Given the description of an element on the screen output the (x, y) to click on. 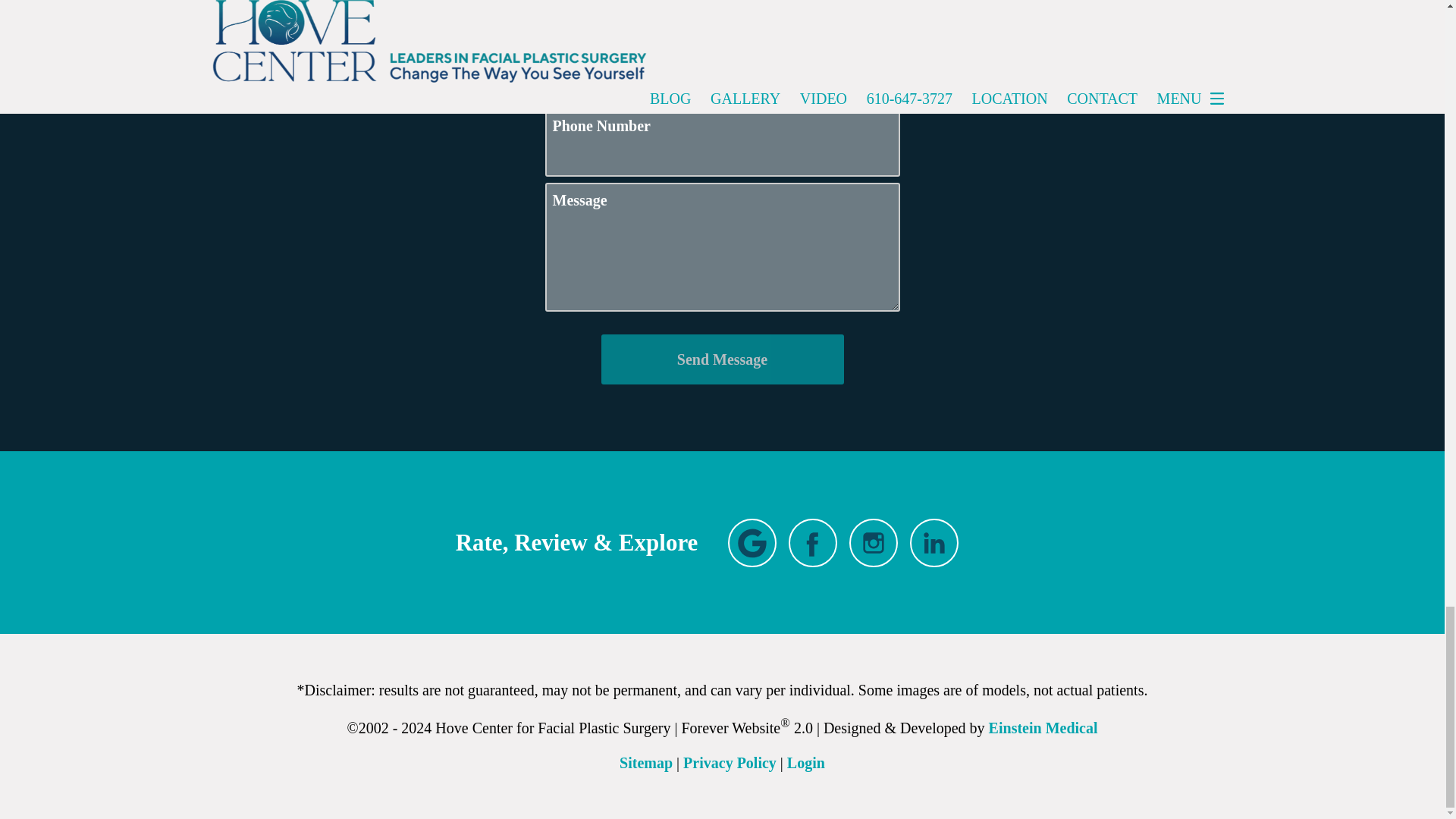
Facebook (813, 542)
Einstein Medical (1042, 727)
Login (806, 762)
Instagram (873, 542)
Sitemap (646, 762)
Send Message (721, 359)
LinkedIn (934, 542)
Privacy Policy (729, 762)
Google (752, 542)
